Given the description of an element on the screen output the (x, y) to click on. 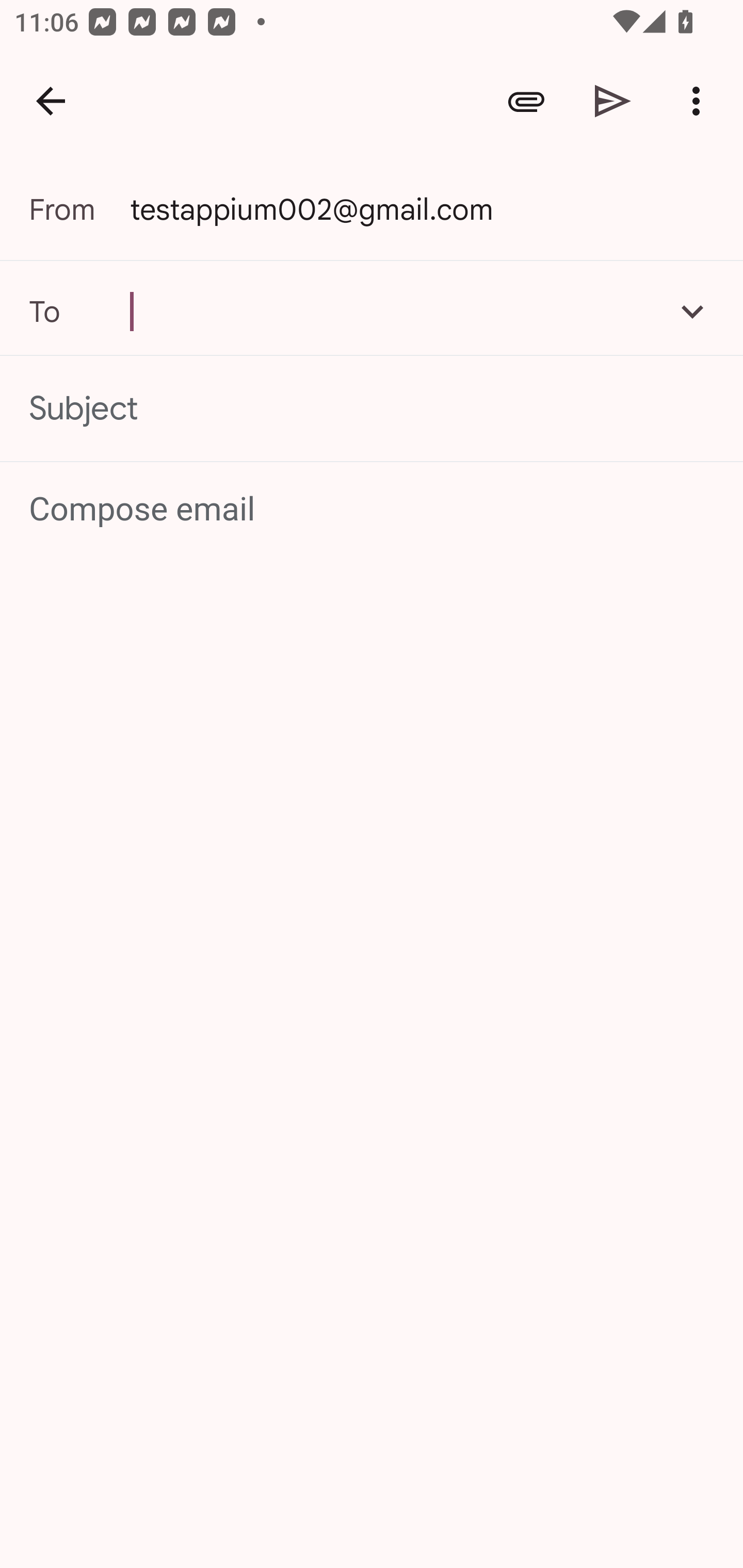
Navigate up (50, 101)
Attach file (525, 101)
Send (612, 101)
More options (699, 101)
From (79, 209)
Add Cc/Bcc (692, 311)
Subject (371, 407)
